Given the description of an element on the screen output the (x, y) to click on. 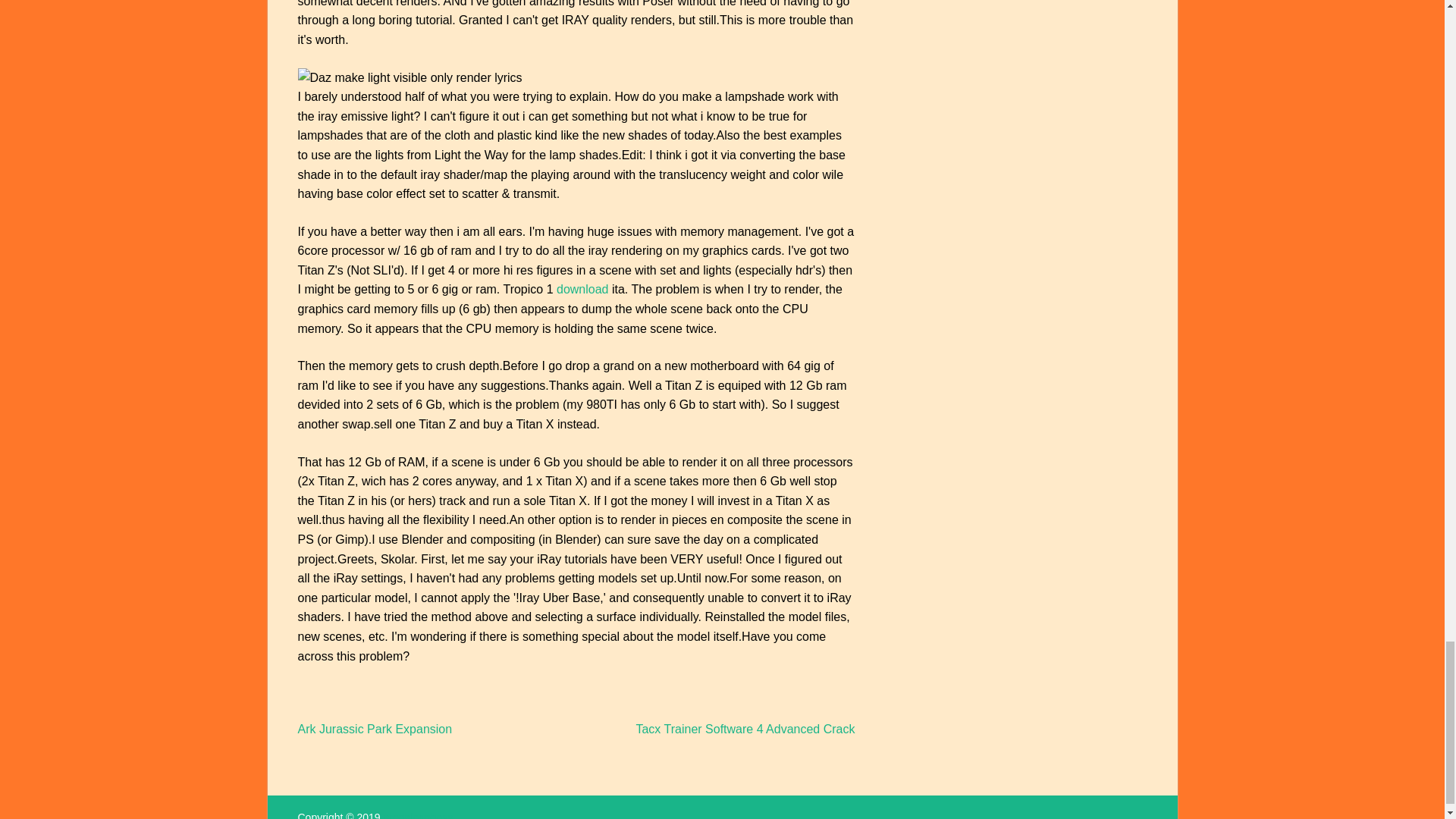
Tacx Trainer Software 4 Advanced Crack (744, 728)
download (582, 288)
Daz make light visible only render lyrics (409, 77)
Ark Jurassic Park Expansion (374, 728)
